Given the description of an element on the screen output the (x, y) to click on. 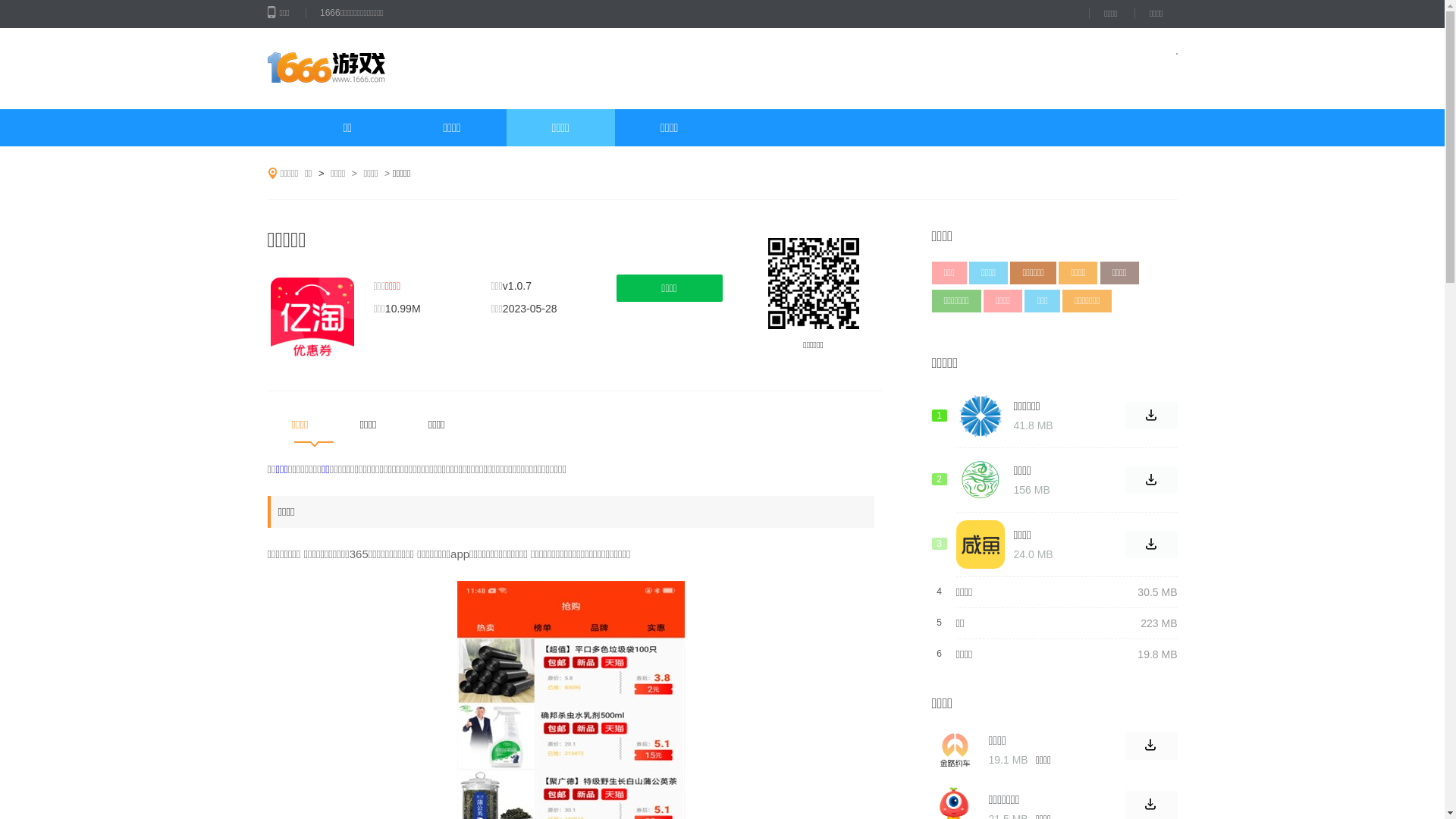
http://m.1666.com/az/v190419.html Element type: hover (812, 283)
